Given the description of an element on the screen output the (x, y) to click on. 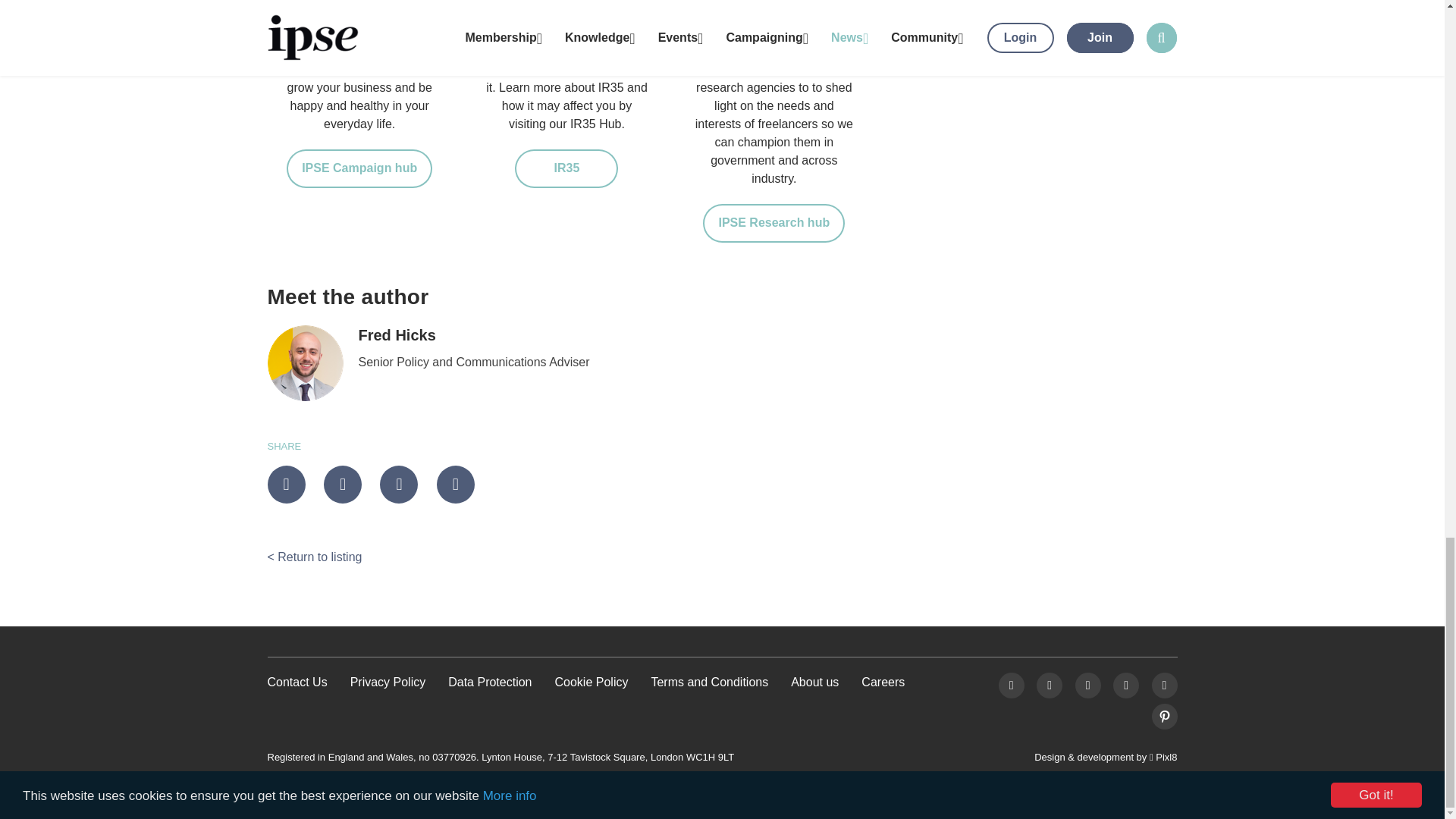
Terms and Conditions (709, 681)
